Given the description of an element on the screen output the (x, y) to click on. 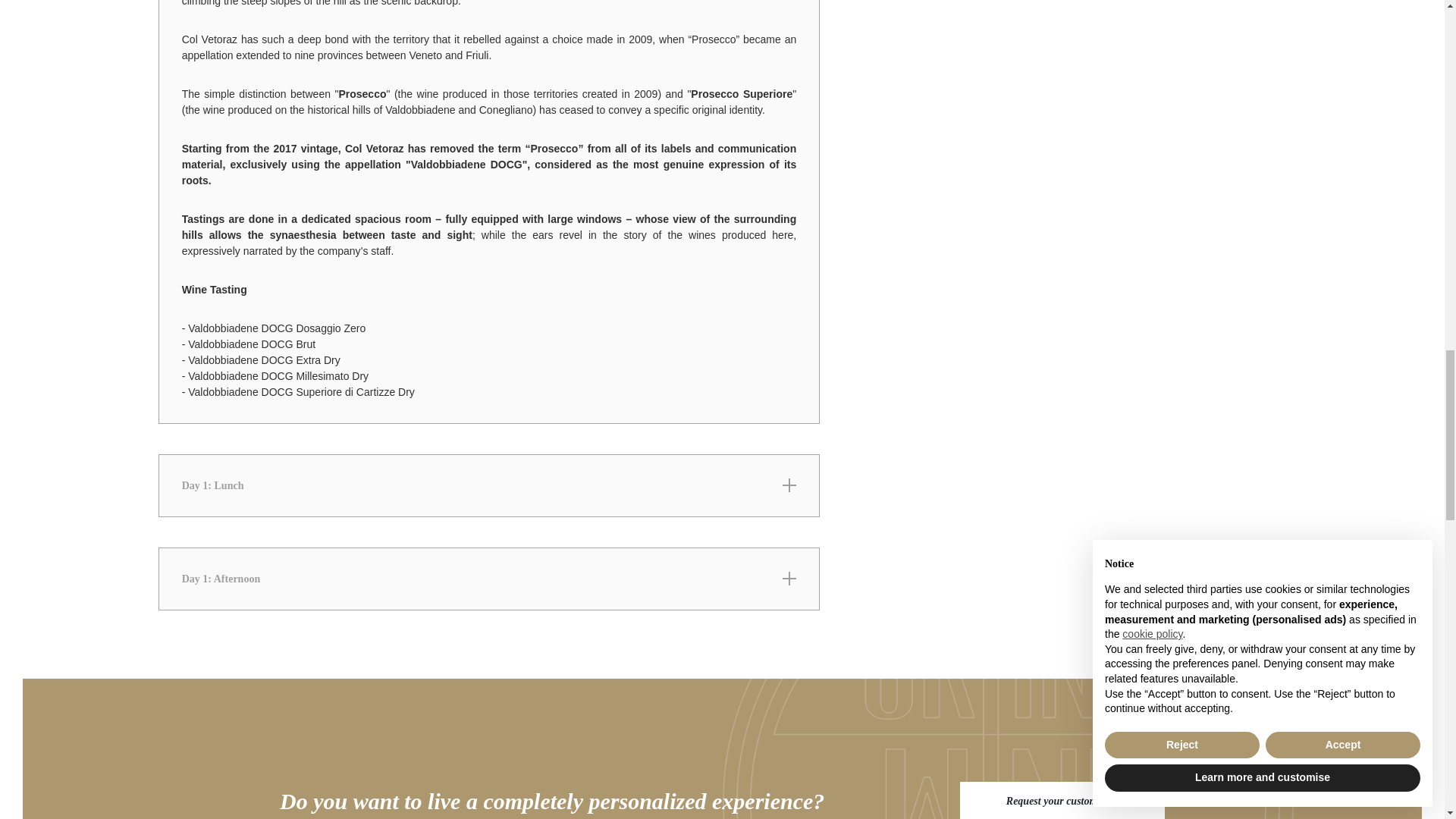
Request your custom tour (1061, 800)
